Given the description of an element on the screen output the (x, y) to click on. 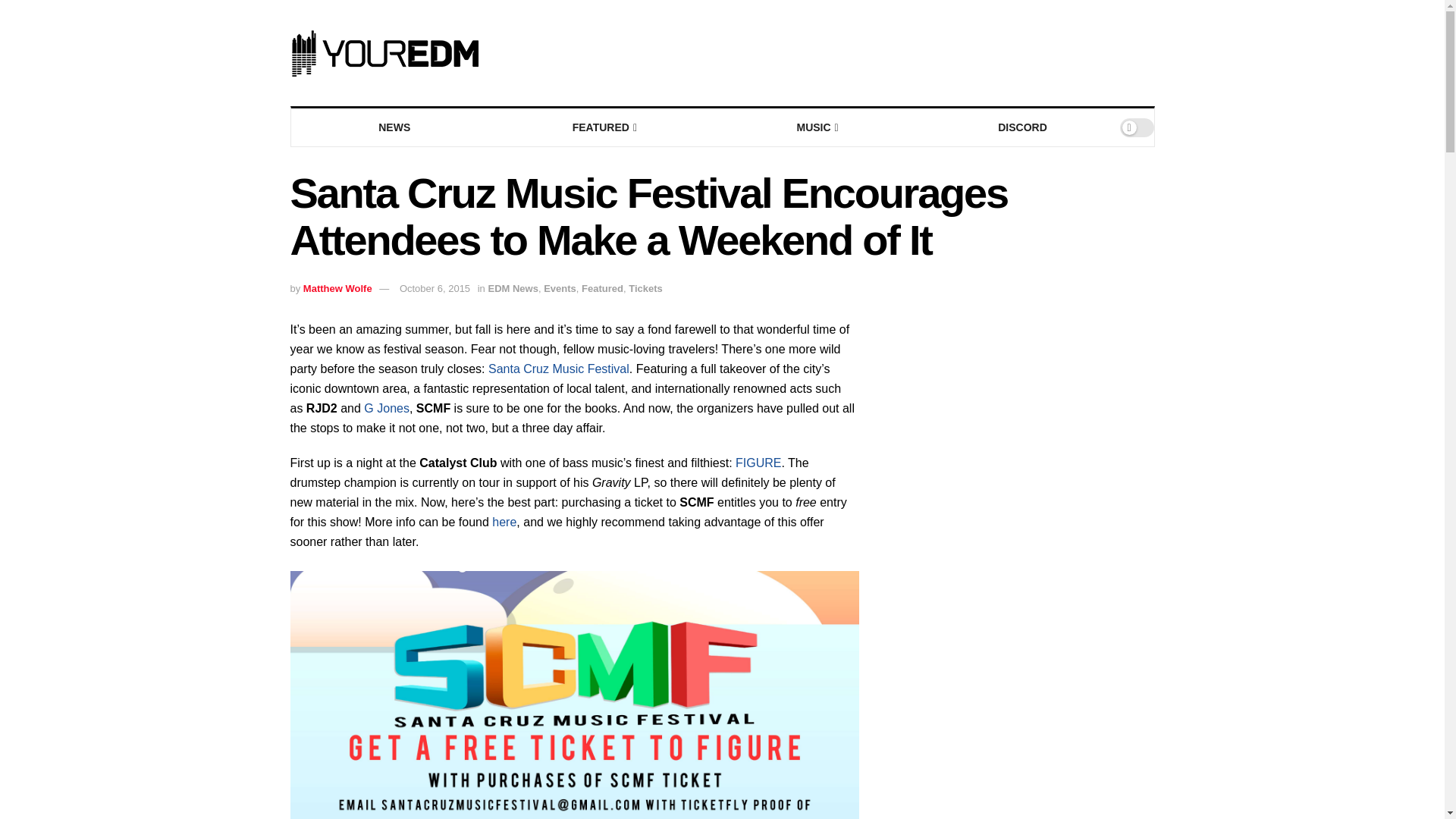
NEWS (394, 127)
FEATURED (603, 127)
MUSIC (815, 127)
DISCORD (1021, 127)
